Given the description of an element on the screen output the (x, y) to click on. 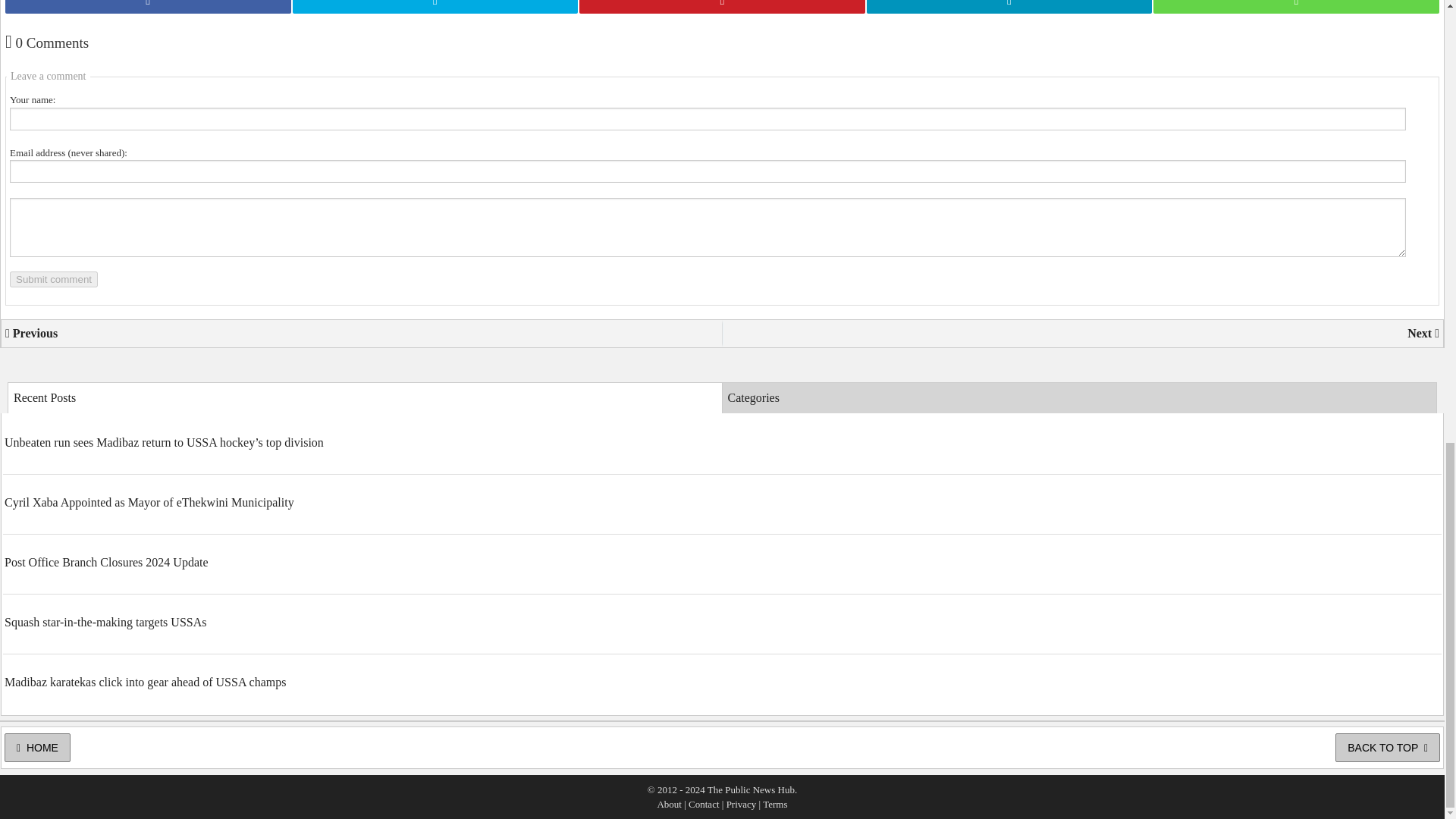
Submit comment (53, 279)
